Given the description of an element on the screen output the (x, y) to click on. 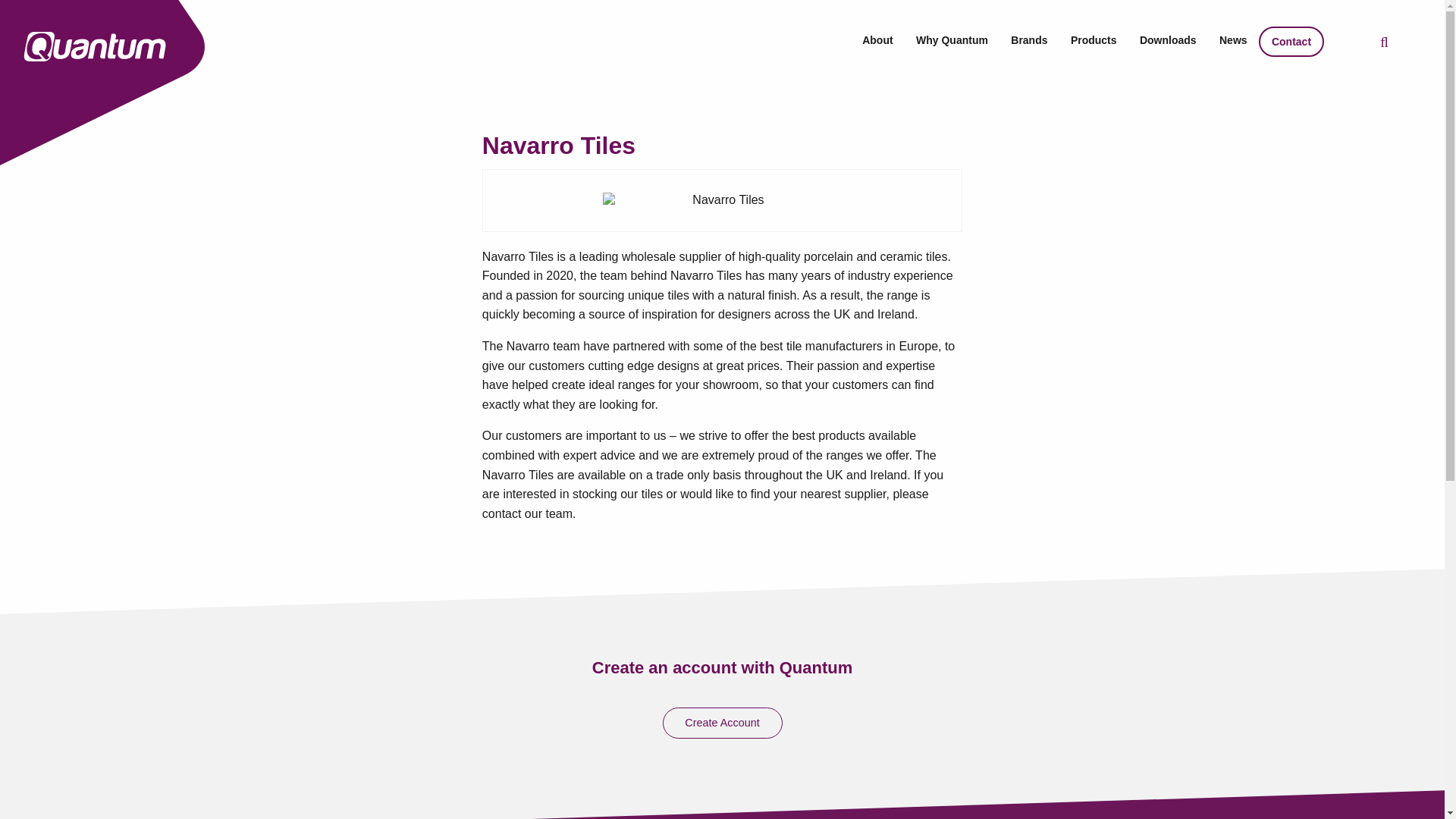
Contact (1291, 41)
About (877, 40)
Create Account (722, 722)
Why Quantum (951, 40)
Products (1093, 40)
Brands (1028, 40)
News (1233, 40)
Downloads (1168, 40)
